Given the description of an element on the screen output the (x, y) to click on. 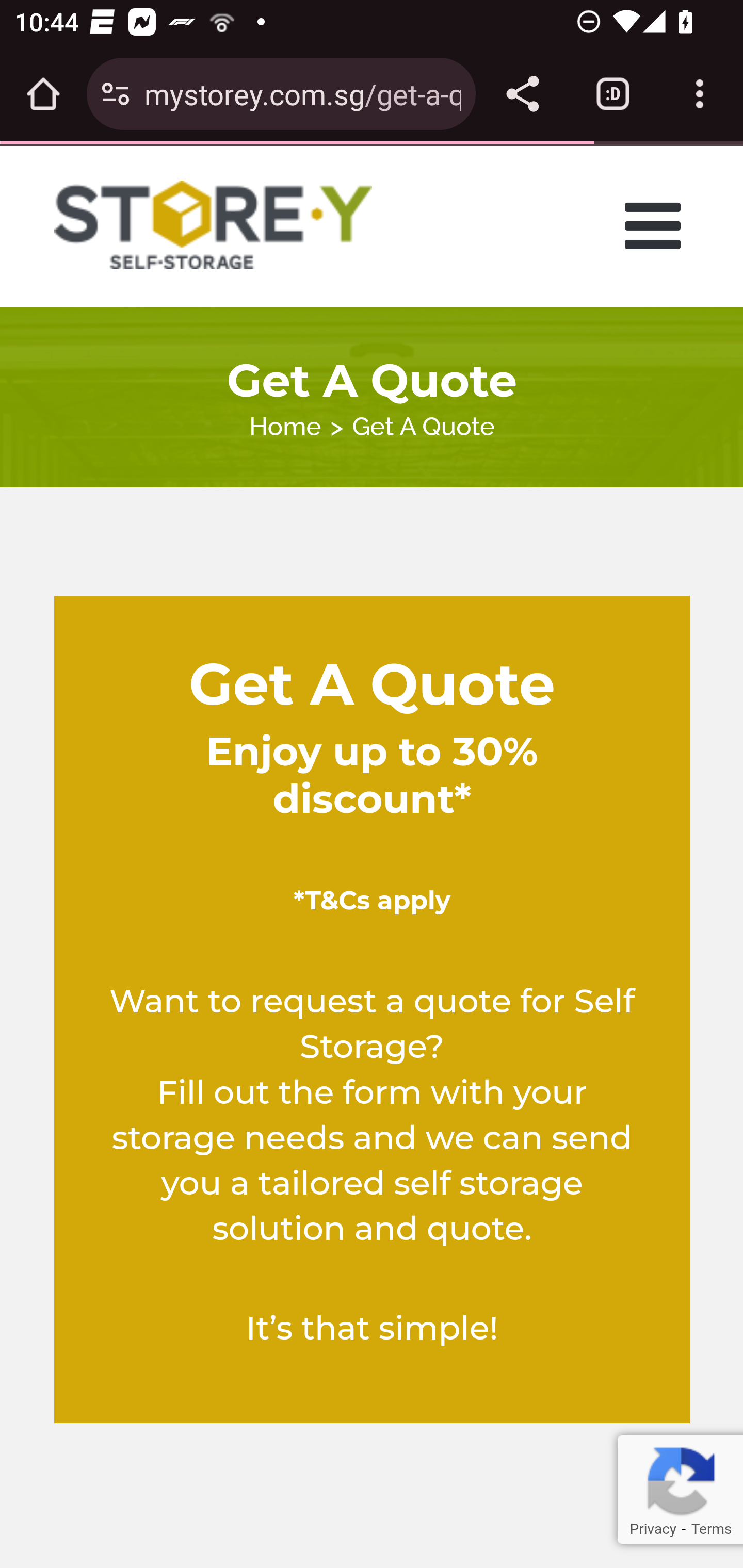
Open the home page (43, 93)
Connection is secure (115, 93)
Share (522, 93)
Switch or close tabs (612, 93)
Customize and control Google Chrome (699, 93)
Store-Y Logo (213, 225)
Toggle mobile menu  (657, 225)
Home (285, 426)
Privacy (652, 1528)
Terms (711, 1528)
